Given the description of an element on the screen output the (x, y) to click on. 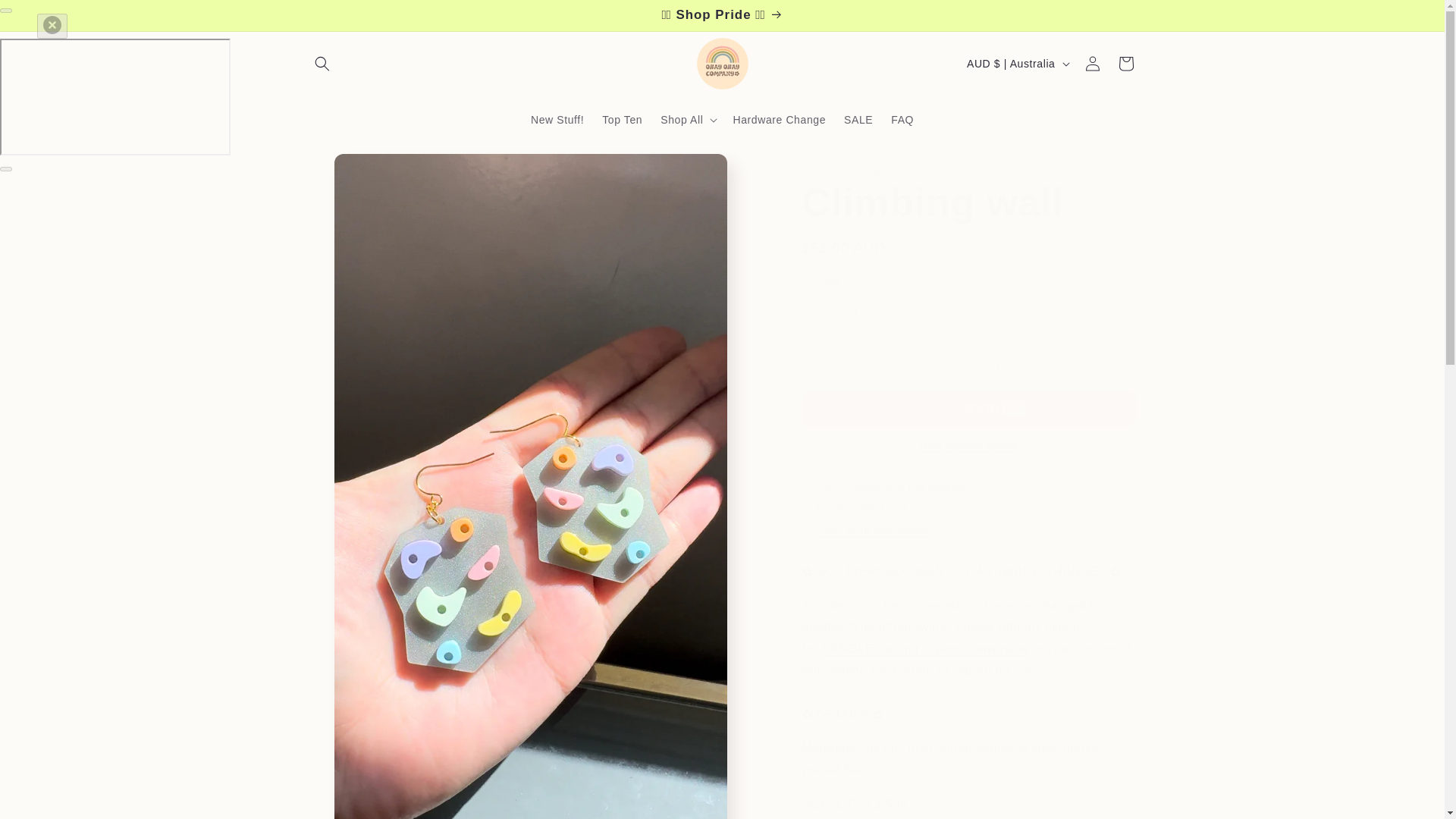
Skip to content (45, 17)
Top Ten (621, 119)
Log in (1091, 63)
1 (856, 311)
Cart (1124, 63)
New Stuff! (556, 119)
SALE (858, 119)
FAQ (902, 119)
Hardware Change (778, 119)
